Given the description of an element on the screen output the (x, y) to click on. 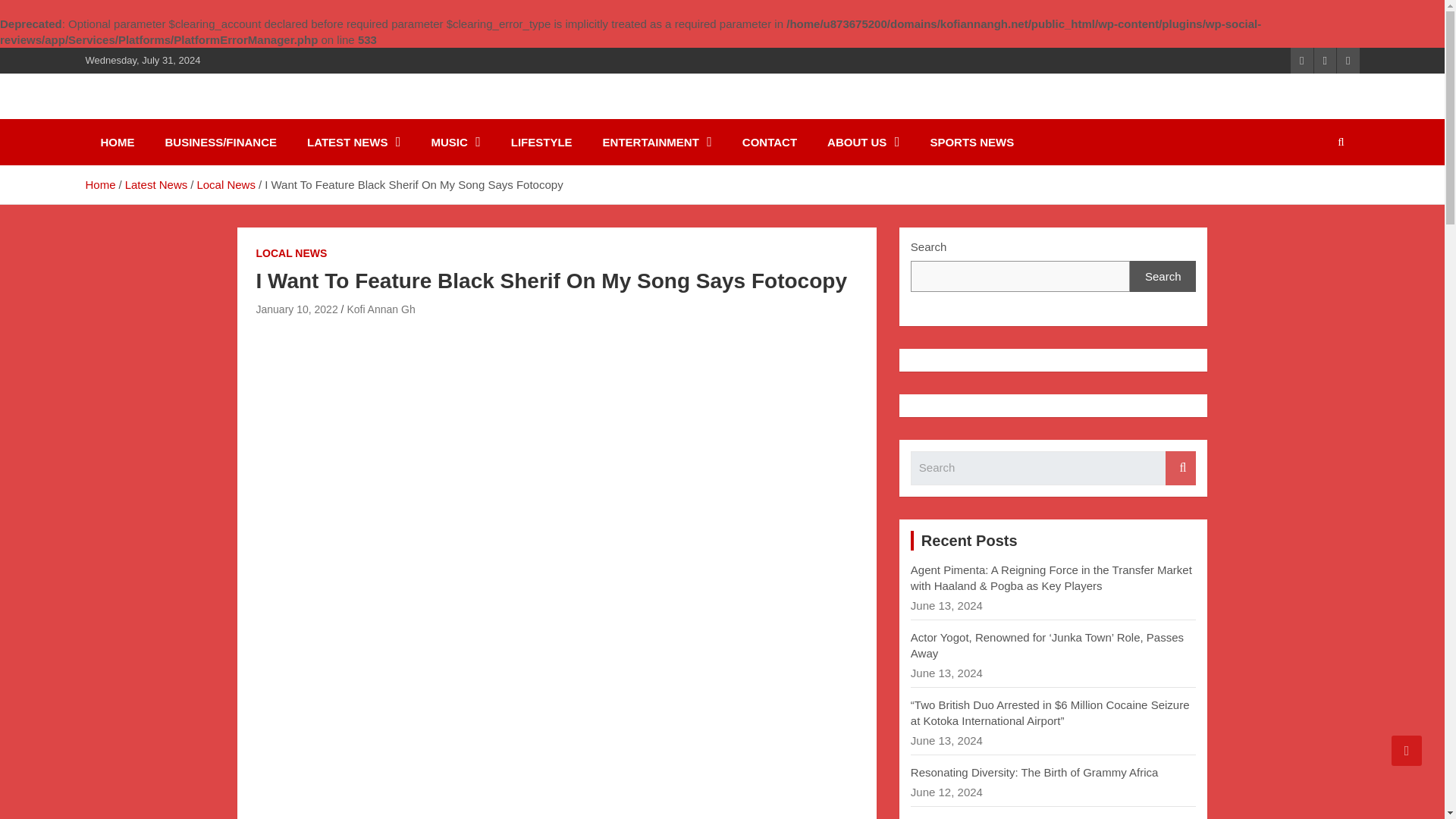
I Want To Feature Black Sherif On My Song Says Fotocopy (296, 309)
Latest News (156, 184)
January 10, 2022 (296, 309)
HOME (116, 141)
ABOUT US (863, 141)
CONTACT (769, 141)
Kofi Annan GH (191, 115)
LATEST NEWS (353, 141)
Kofi Annan Gh (380, 309)
LOCAL NEWS (291, 253)
Local News (226, 184)
MUSIC (454, 141)
Home (99, 184)
LIFESTYLE (542, 141)
SPORTS NEWS (971, 141)
